Given the description of an element on the screen output the (x, y) to click on. 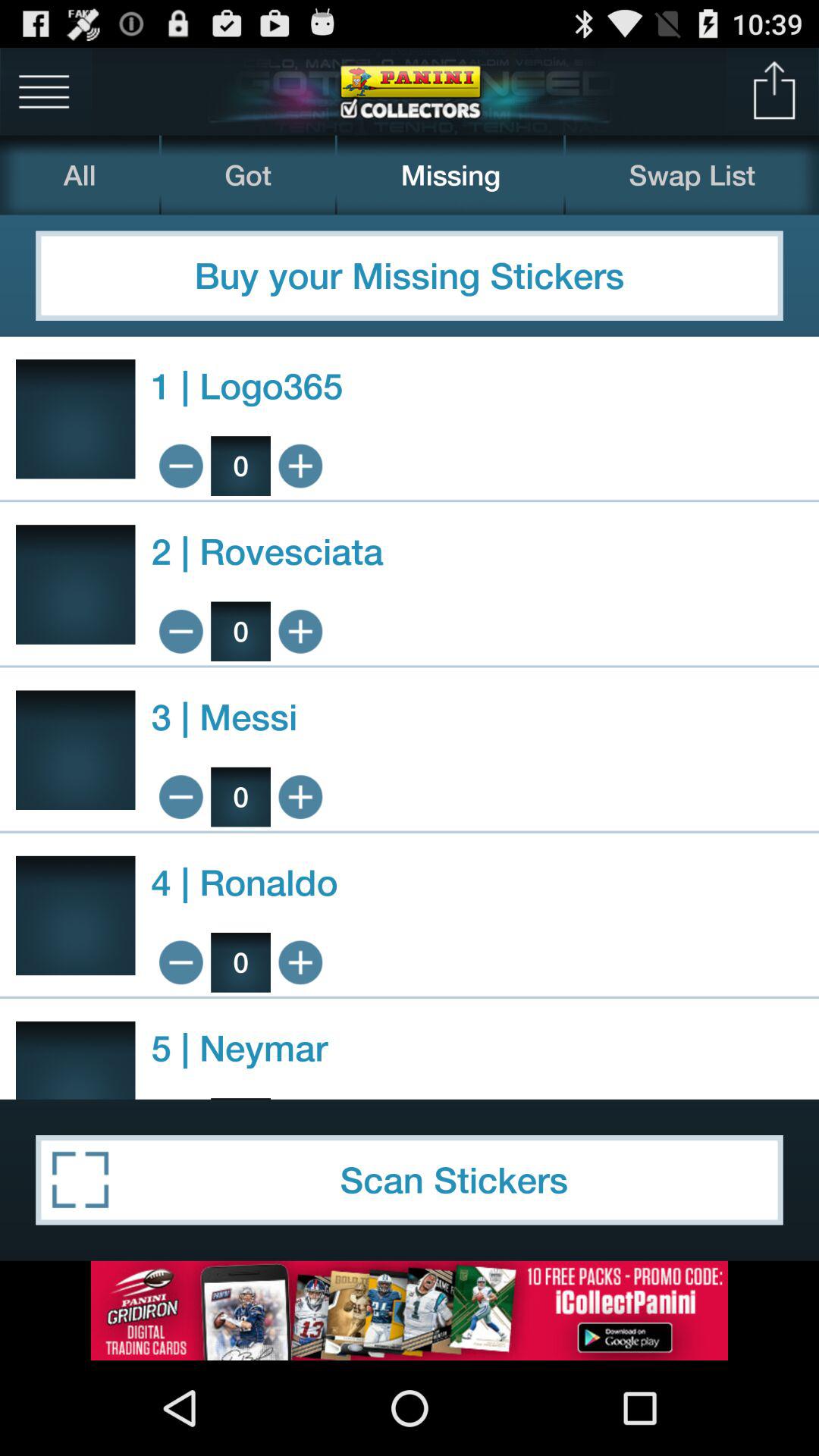
increment down (181, 465)
